Given the description of an element on the screen output the (x, y) to click on. 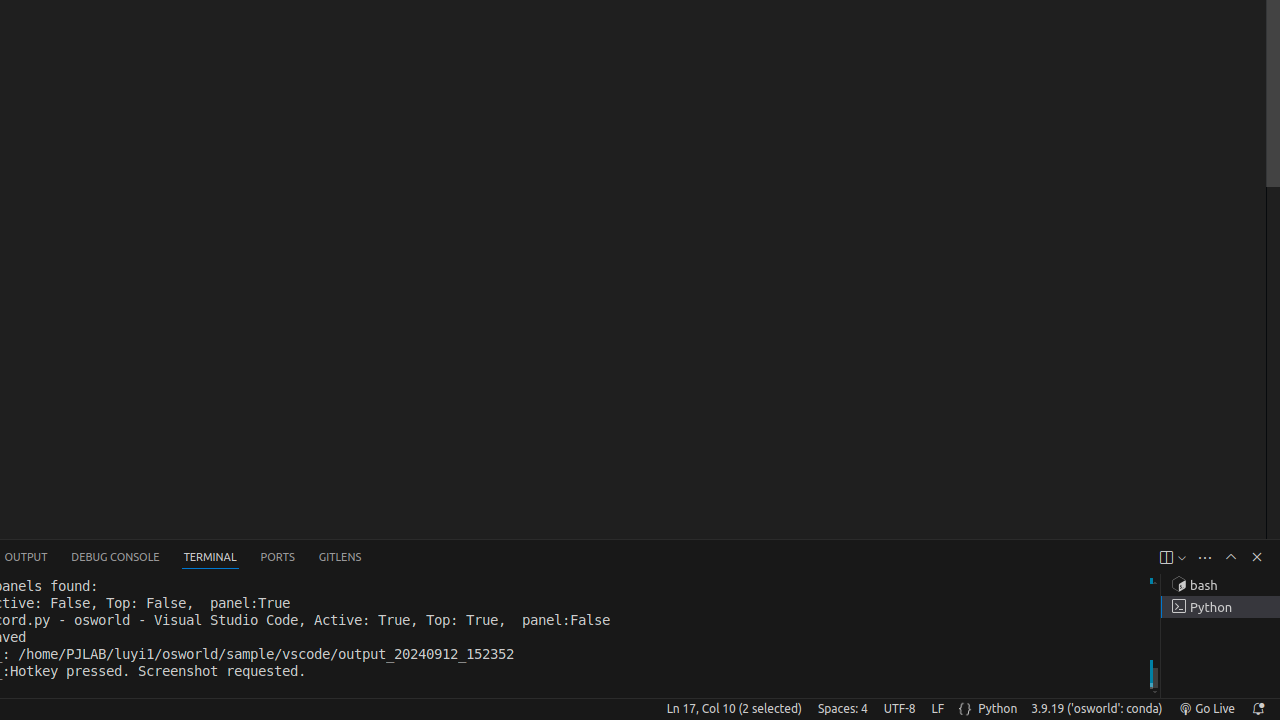
broadcast Go Live, Click to run live server Element type: push-button (1206, 709)
3.9.19 ('osworld': conda), ~/anaconda3/envs/osworld/bin/python Element type: push-button (1097, 709)
LF Element type: push-button (938, 709)
Launch Profile... Element type: push-button (1182, 557)
GitLens Element type: page-tab (340, 557)
